Given the description of an element on the screen output the (x, y) to click on. 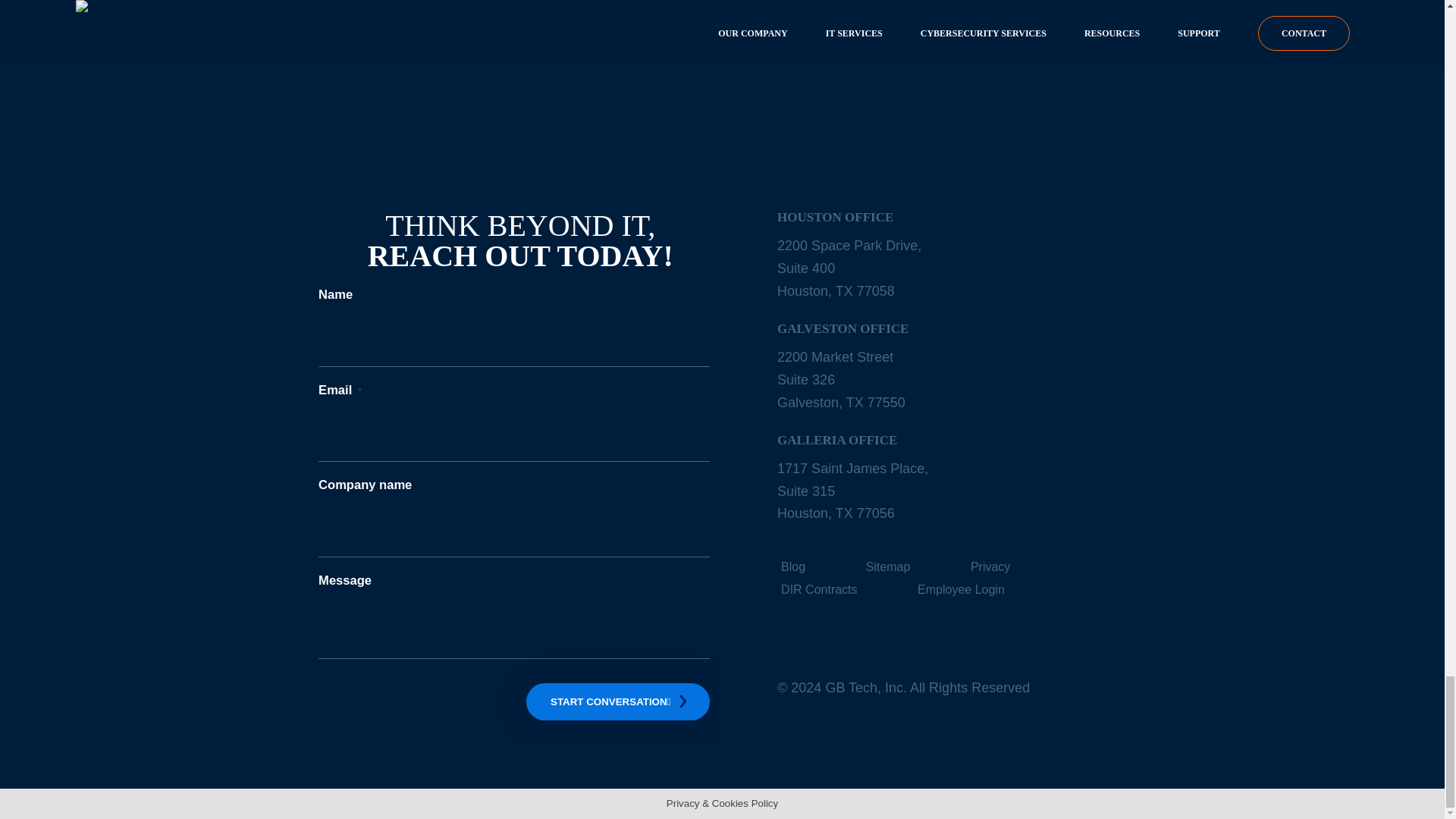
START CONVERSATION (849, 268)
Blog (617, 701)
